Given the description of an element on the screen output the (x, y) to click on. 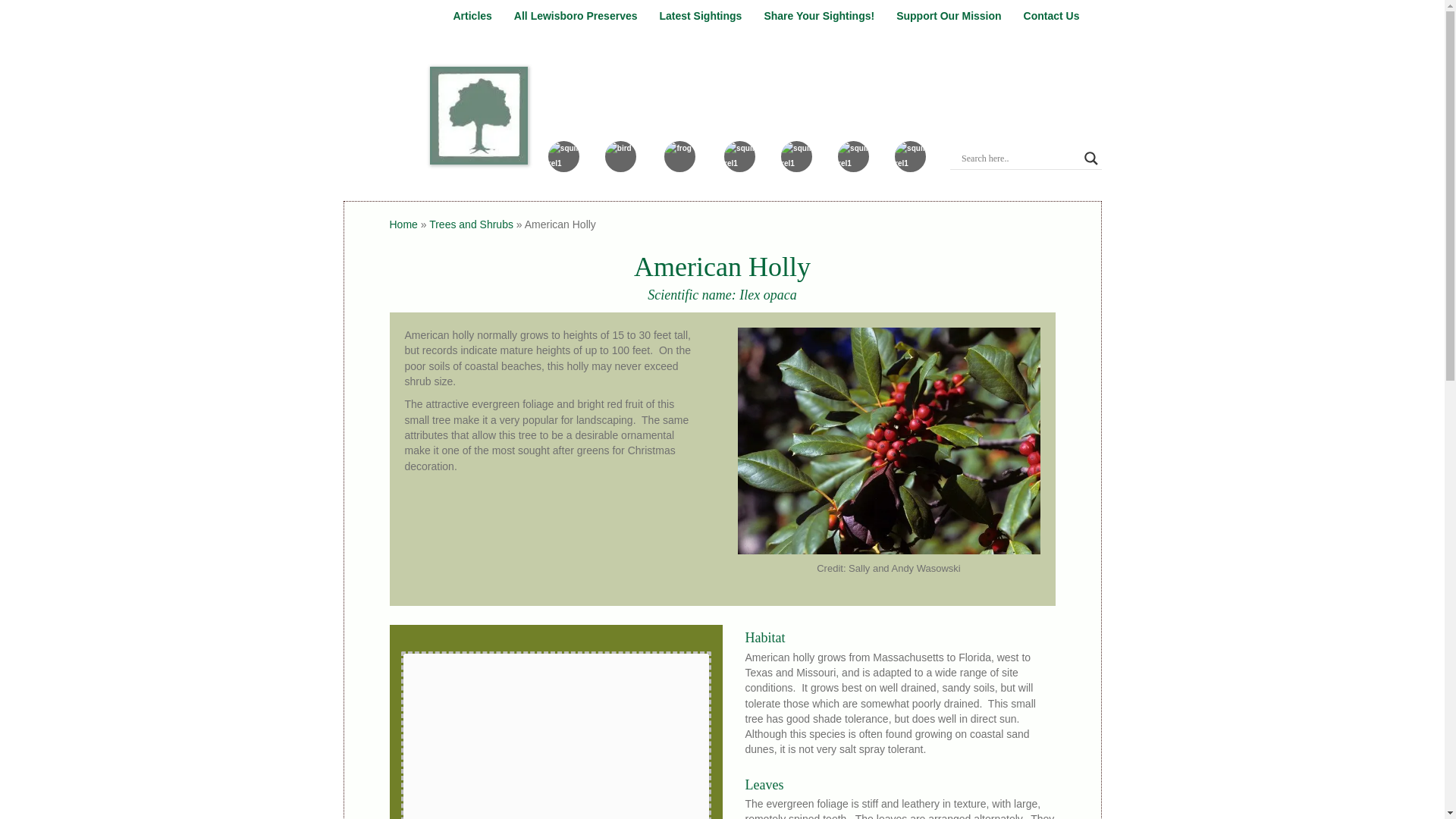
Lewisboro Field Guide (787, 82)
Habitats (910, 164)
Bugs (739, 164)
Mammals (563, 164)
Articles (472, 15)
newlogotrimmed (478, 115)
Flowers (853, 164)
ilex opaca (887, 440)
Lewisboro Field Guide (787, 82)
Latest Sightings (700, 15)
